Given the description of an element on the screen output the (x, y) to click on. 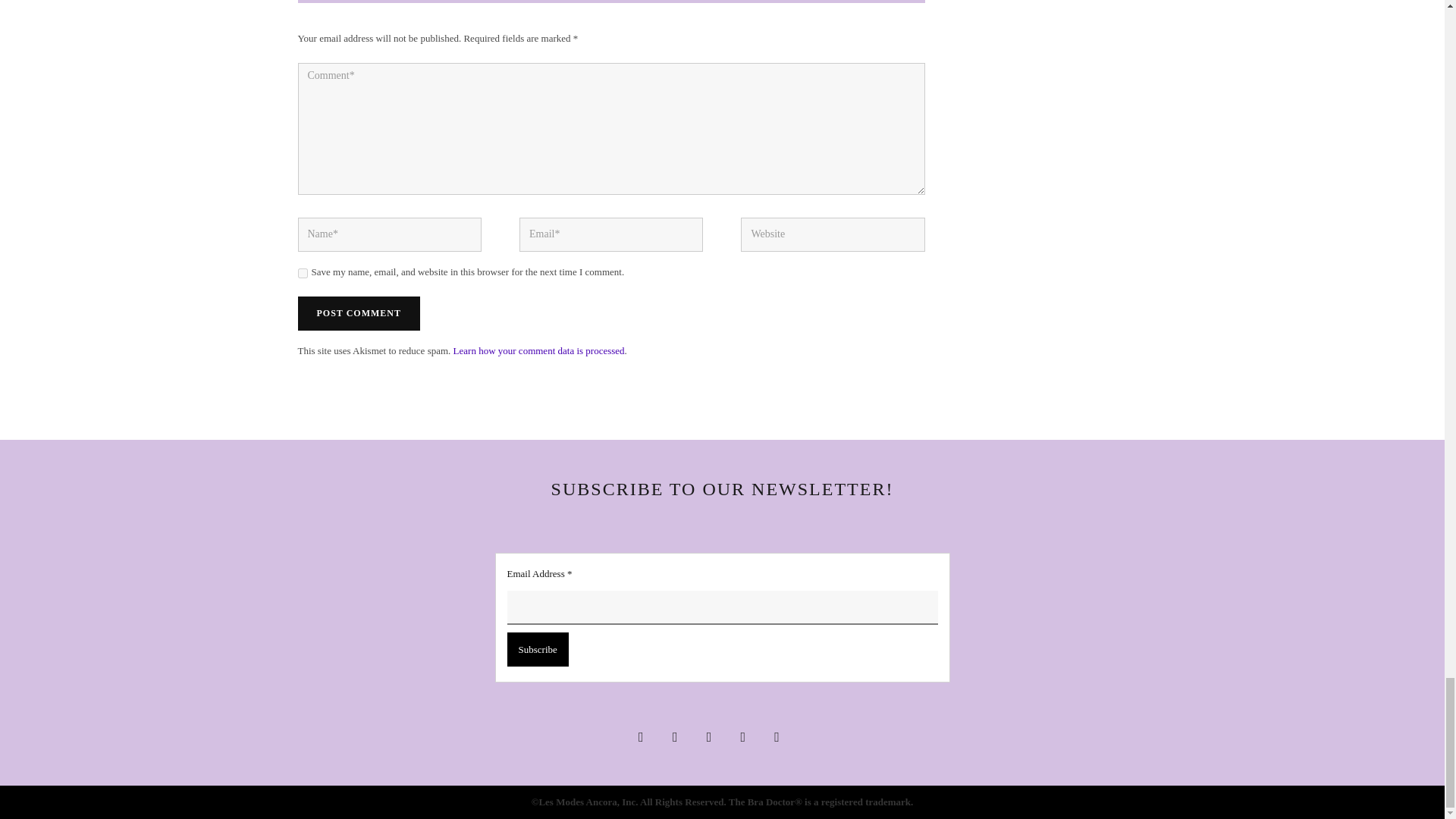
yes (302, 273)
Post Comment (358, 313)
